Given the description of an element on the screen output the (x, y) to click on. 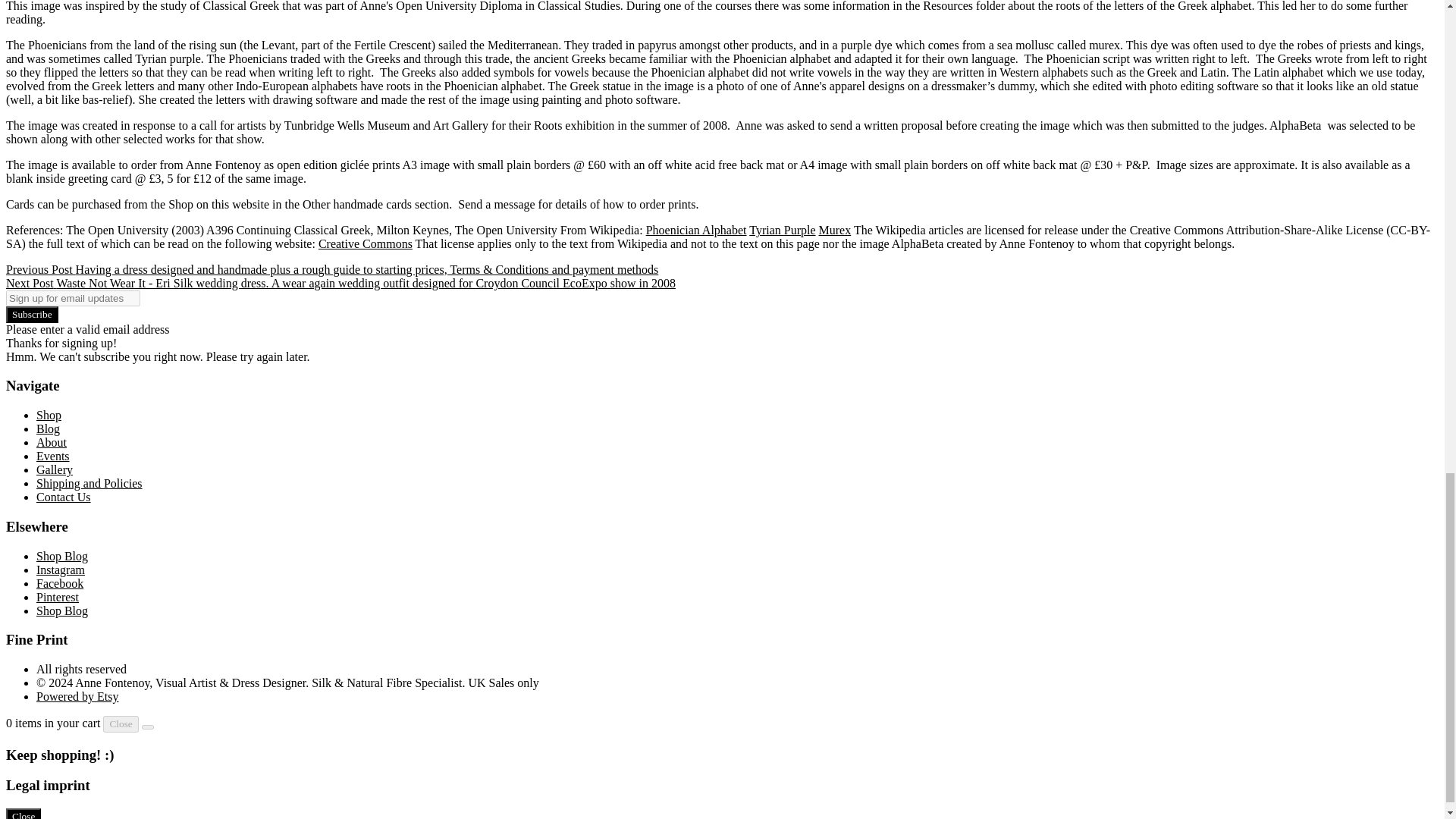
Events (52, 455)
Shop (48, 414)
Shipping and Policies (89, 482)
Contact Us (63, 496)
Murex (834, 229)
Tyrian Purple (782, 229)
Phoenician Alphabet (696, 229)
Gallery (54, 469)
Shop Blog (61, 555)
